Given the description of an element on the screen output the (x, y) to click on. 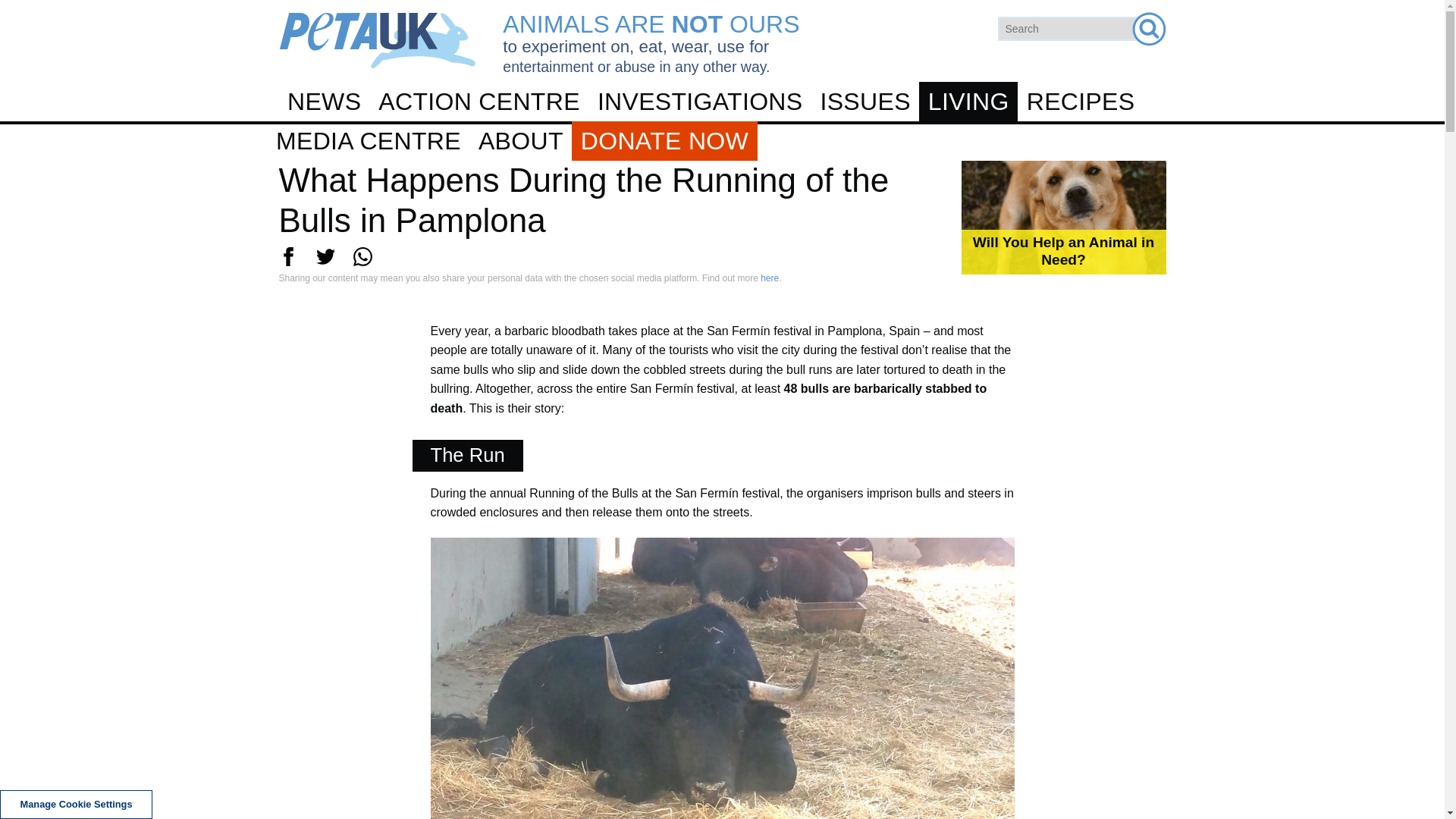
NEWS (324, 101)
MEDICAL EXPERIMENTS (721, 271)
ACTION ALERTS (728, 147)
COSMETICS TESTING (721, 231)
EAT (721, 206)
NON-ANIMAL METHODS (721, 350)
CHEMICAL TESTING (728, 192)
ACTIVIST RESOURCES (721, 225)
PETA UK (378, 40)
EXPERIMENT ON (721, 166)
